Given the description of an element on the screen output the (x, y) to click on. 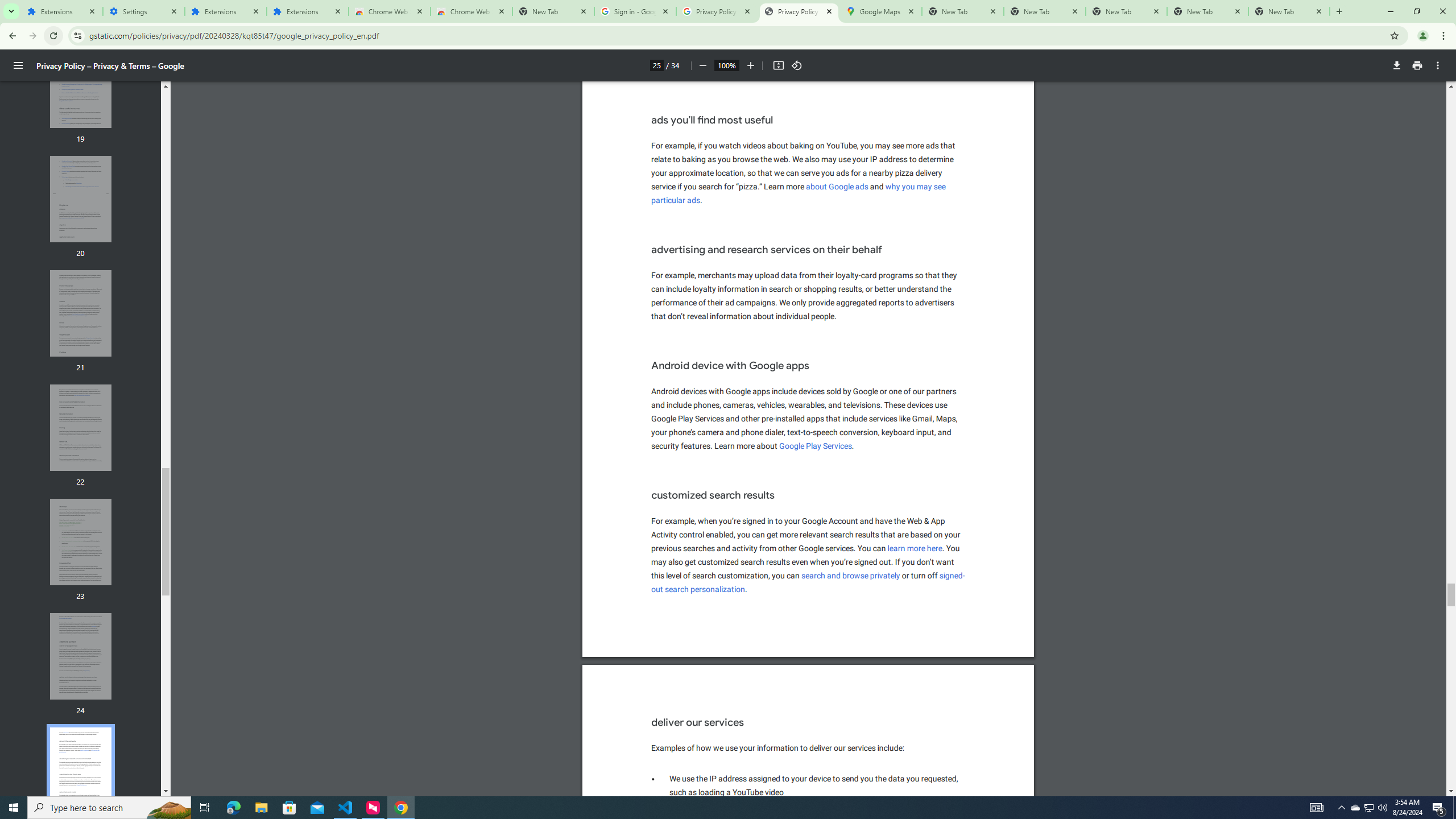
Zoom in (675, 200)
Download (750, 65)
Page number (1396, 65)
Menu (656, 64)
Print (17, 65)
